Given the description of an element on the screen output the (x, y) to click on. 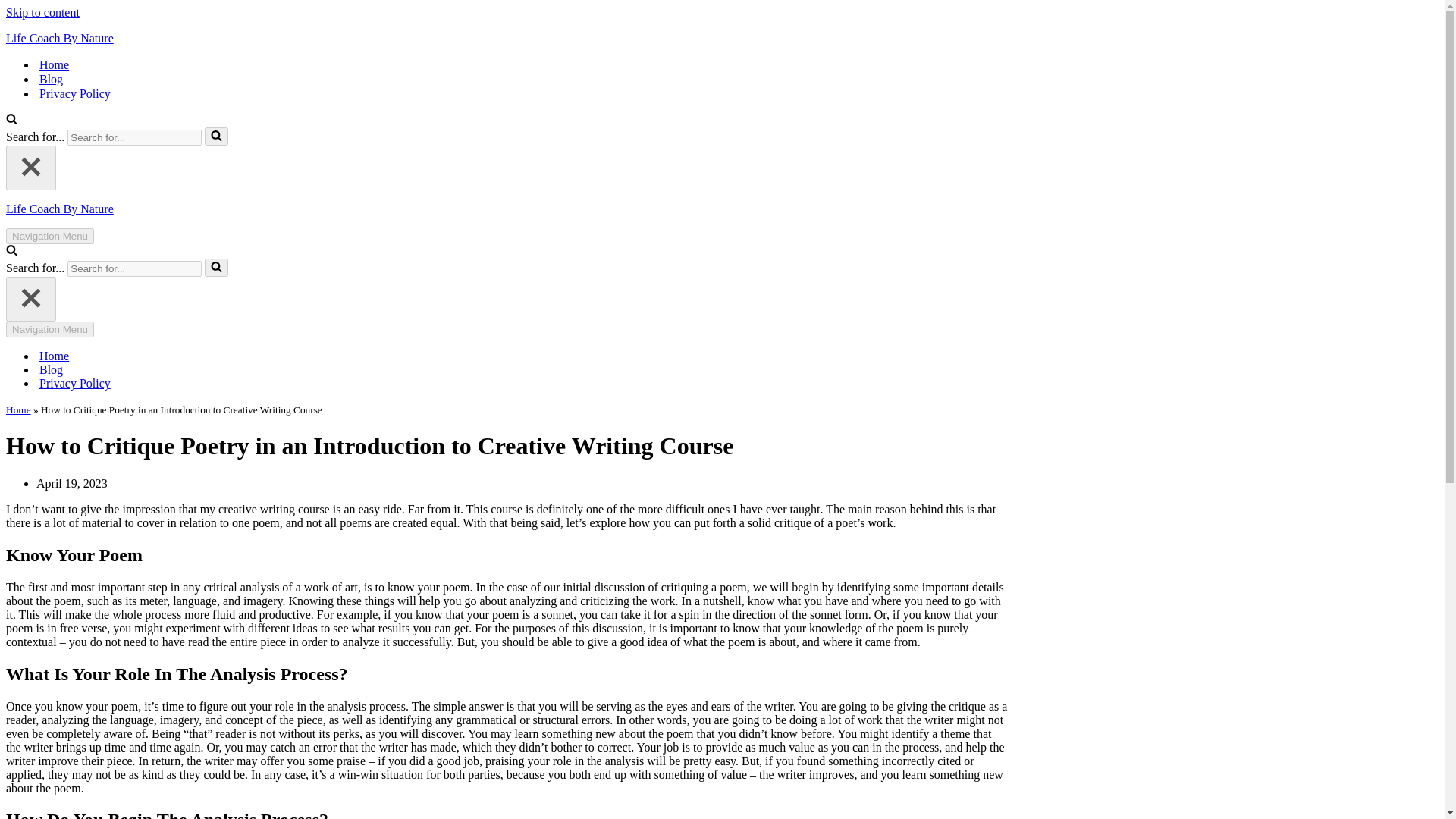
Home (53, 64)
Home (53, 356)
Navigation Menu (49, 329)
Home (17, 409)
Blog (50, 369)
Skip to content (42, 11)
Blog (50, 79)
Navigation Menu (49, 236)
Privacy Policy (74, 383)
Privacy Policy (74, 93)
